Given the description of an element on the screen output the (x, y) to click on. 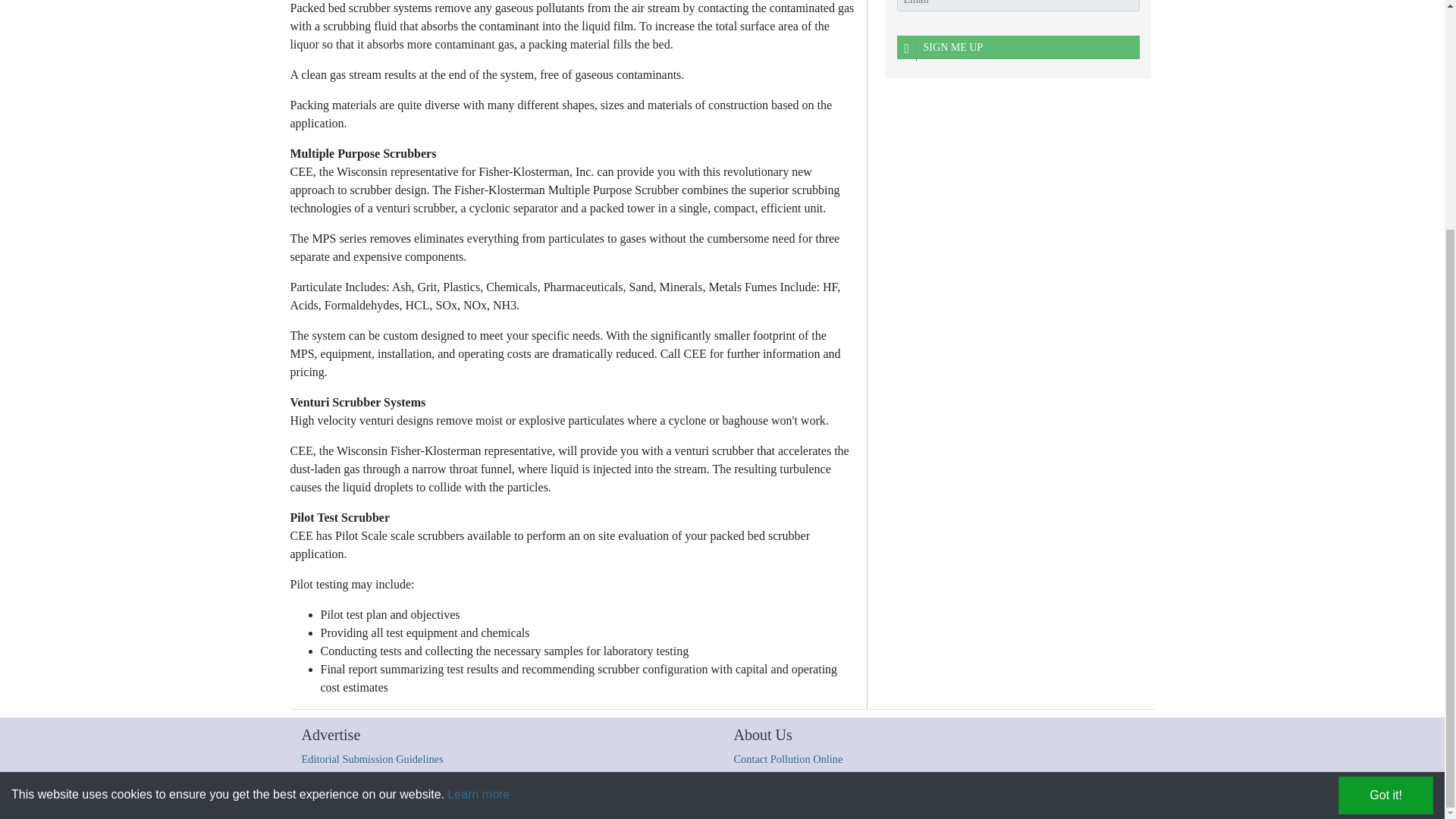
Editorial Submission Guidelines (372, 758)
Don't sell my information (960, 798)
Terms of Use (704, 798)
Got it! (1385, 485)
Learn more (477, 484)
Subscriber Request Form (858, 798)
SIGN ME UP (1017, 47)
Privacy Statement (770, 798)
VertMarkets, Inc. (561, 798)
Copyright (453, 798)
Contact Pollution Online (788, 758)
